Given the description of an element on the screen output the (x, y) to click on. 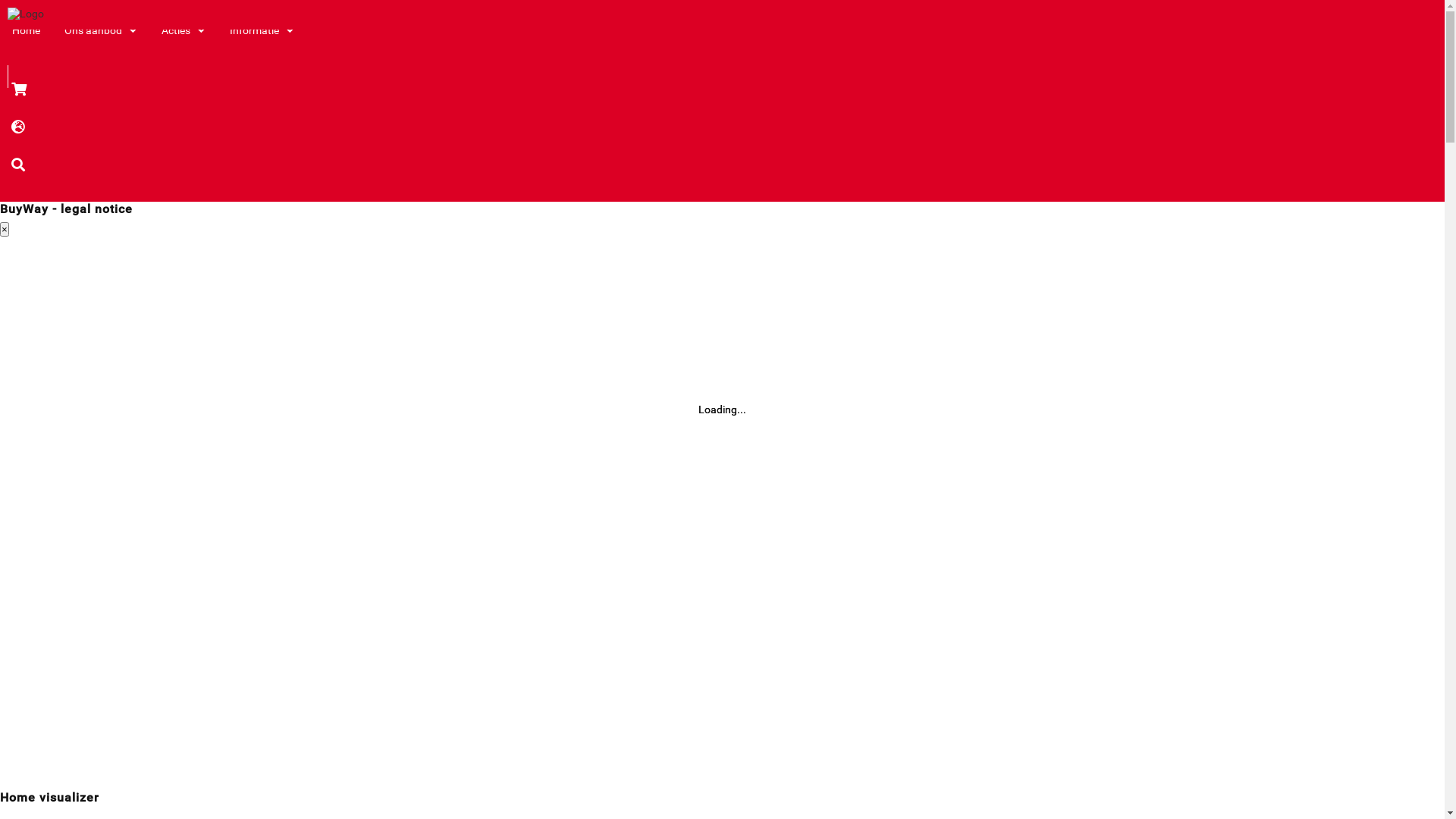
Home Element type: text (26, 47)
Nederlands Element type: text (934, 171)
English Element type: text (934, 205)
